Given the description of an element on the screen output the (x, y) to click on. 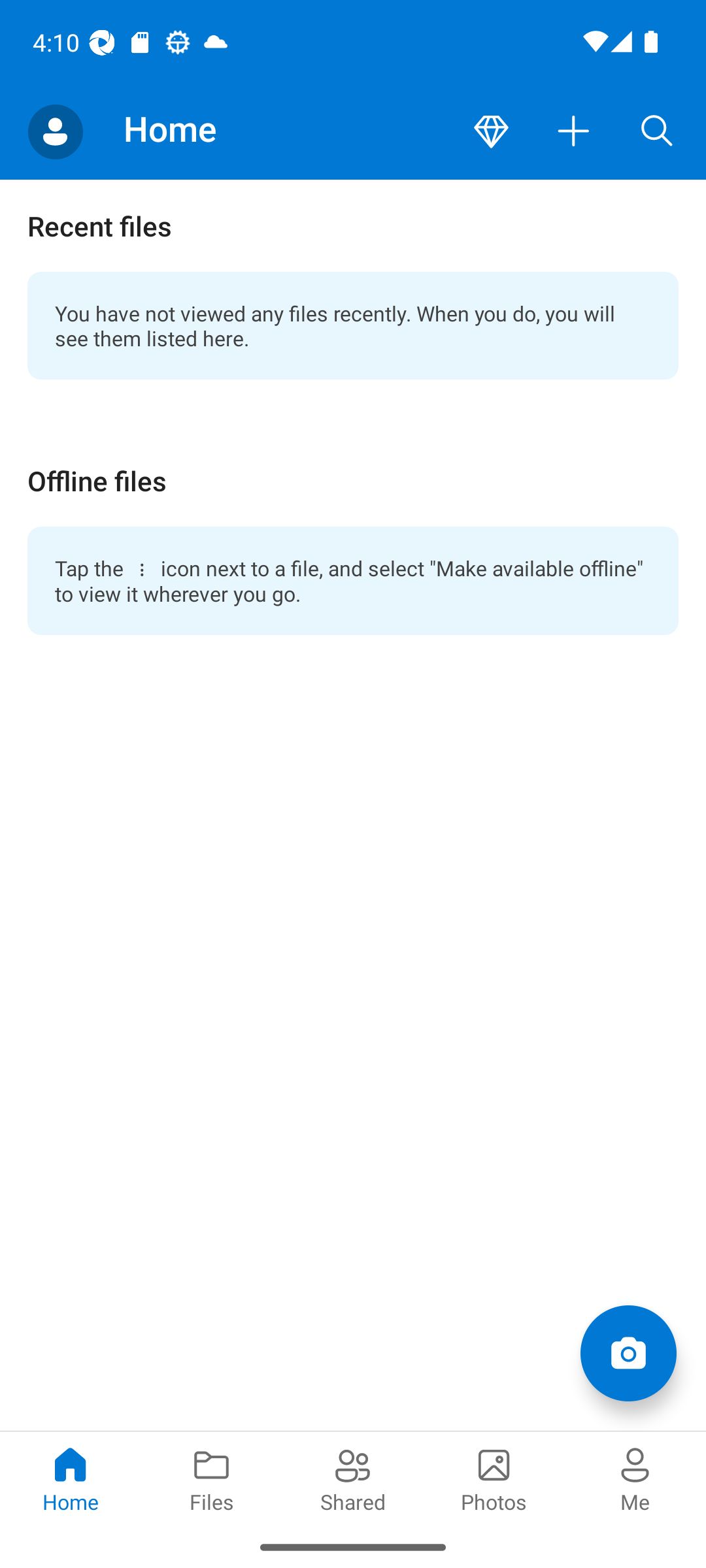
Account switcher (55, 131)
Premium button (491, 131)
More actions button (574, 131)
Search button (656, 131)
Scan (628, 1352)
Files pivot Files (211, 1478)
Shared pivot Shared (352, 1478)
Photos pivot Photos (493, 1478)
Me pivot Me (635, 1478)
